Given the description of an element on the screen output the (x, y) to click on. 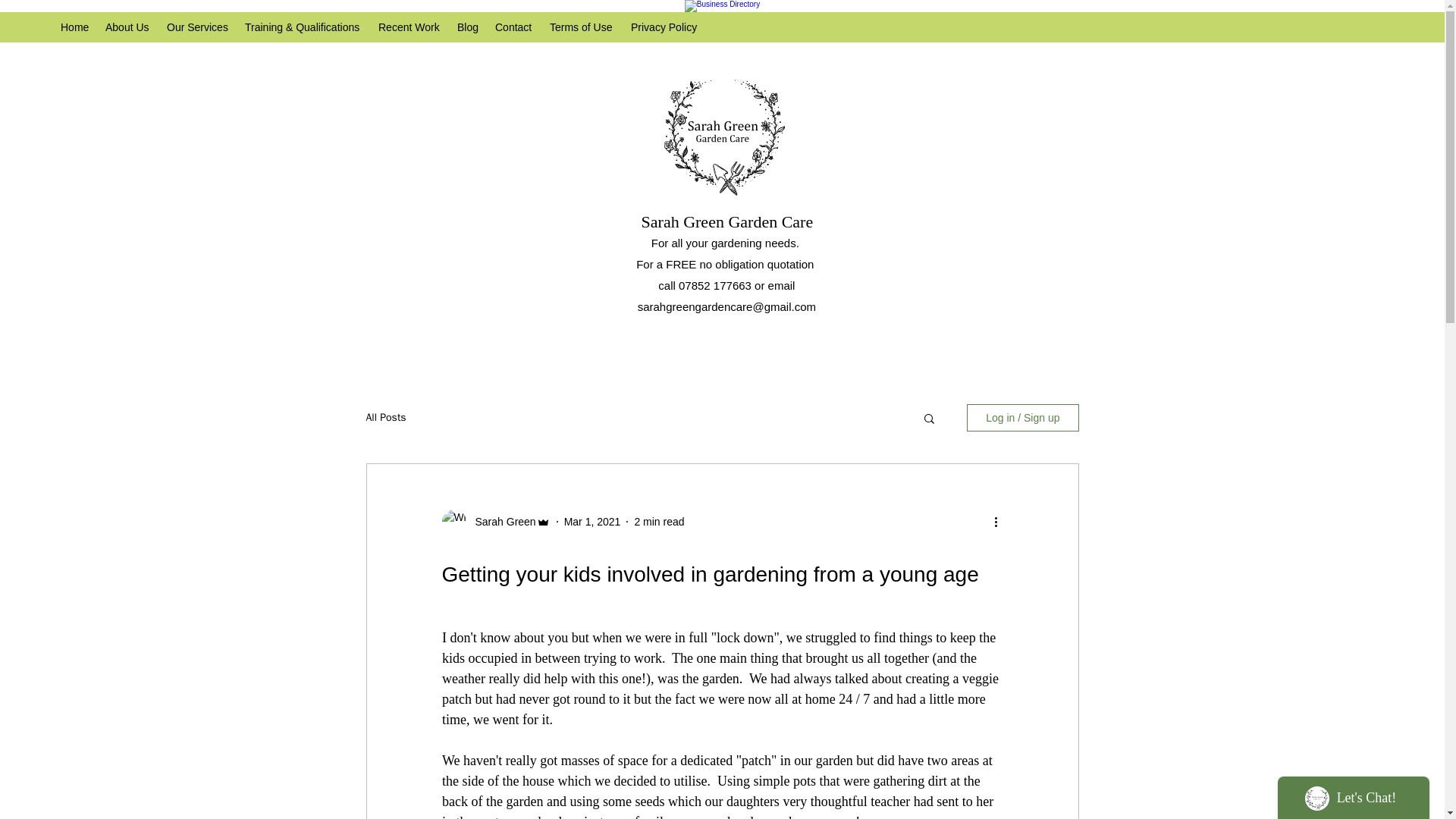
Our Services (197, 26)
Home (74, 26)
About Us (127, 26)
Privacy Policy (665, 26)
Recent Work (410, 26)
Mar 1, 2021 (592, 521)
Terms of Use (582, 26)
Sarah Green (500, 521)
2 min read (658, 521)
Blog (468, 26)
All Posts (385, 418)
Contact (514, 26)
